Given the description of an element on the screen output the (x, y) to click on. 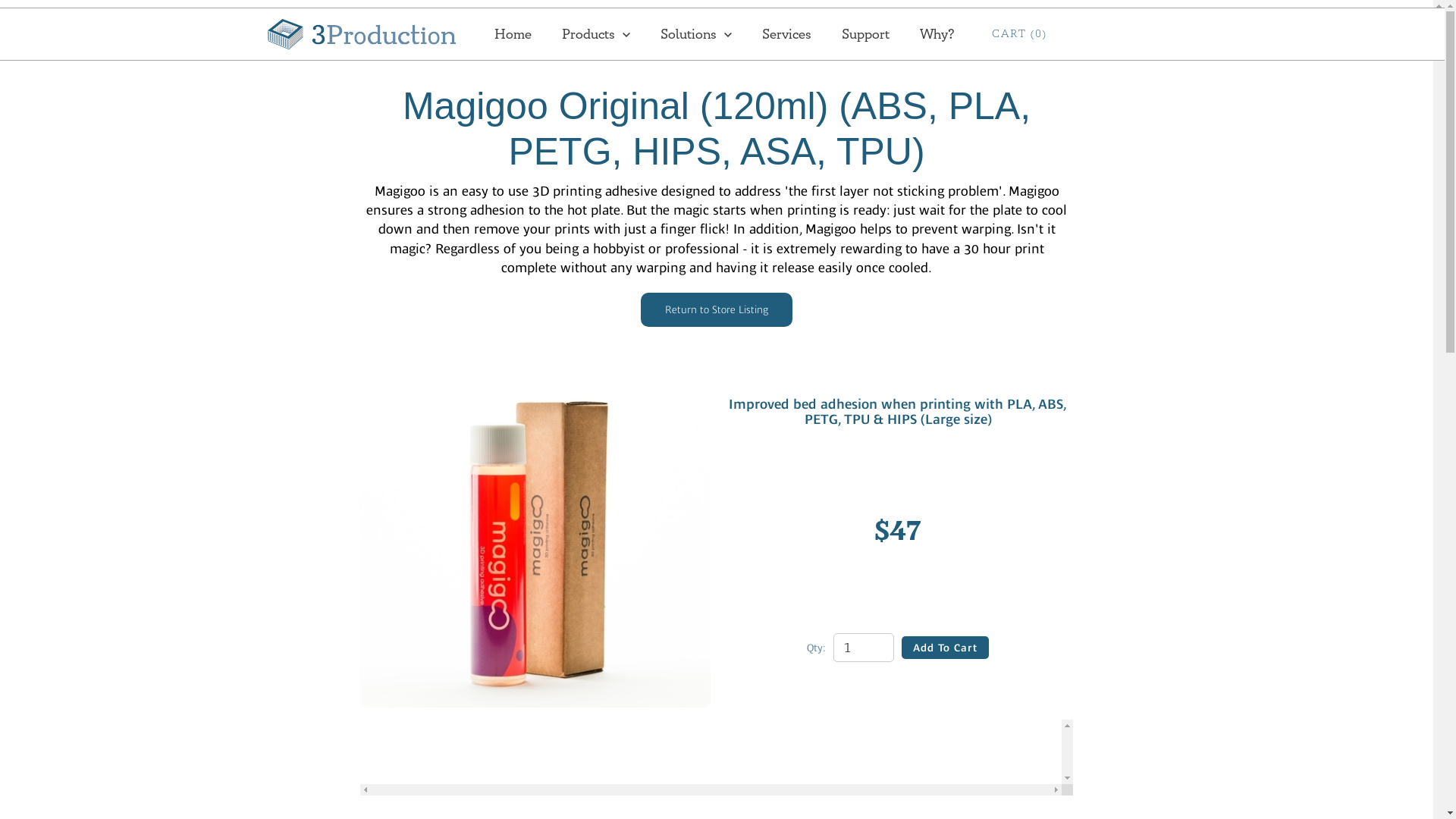
Why? Element type: text (936, 33)
Add To Cart Element type: text (944, 647)
Return to Store Listing Element type: text (716, 309)
CART (0) Element type: text (1019, 33)
Home Element type: text (512, 33)
Support Element type: text (865, 33)
Services Element type: text (786, 33)
